Given the description of an element on the screen output the (x, y) to click on. 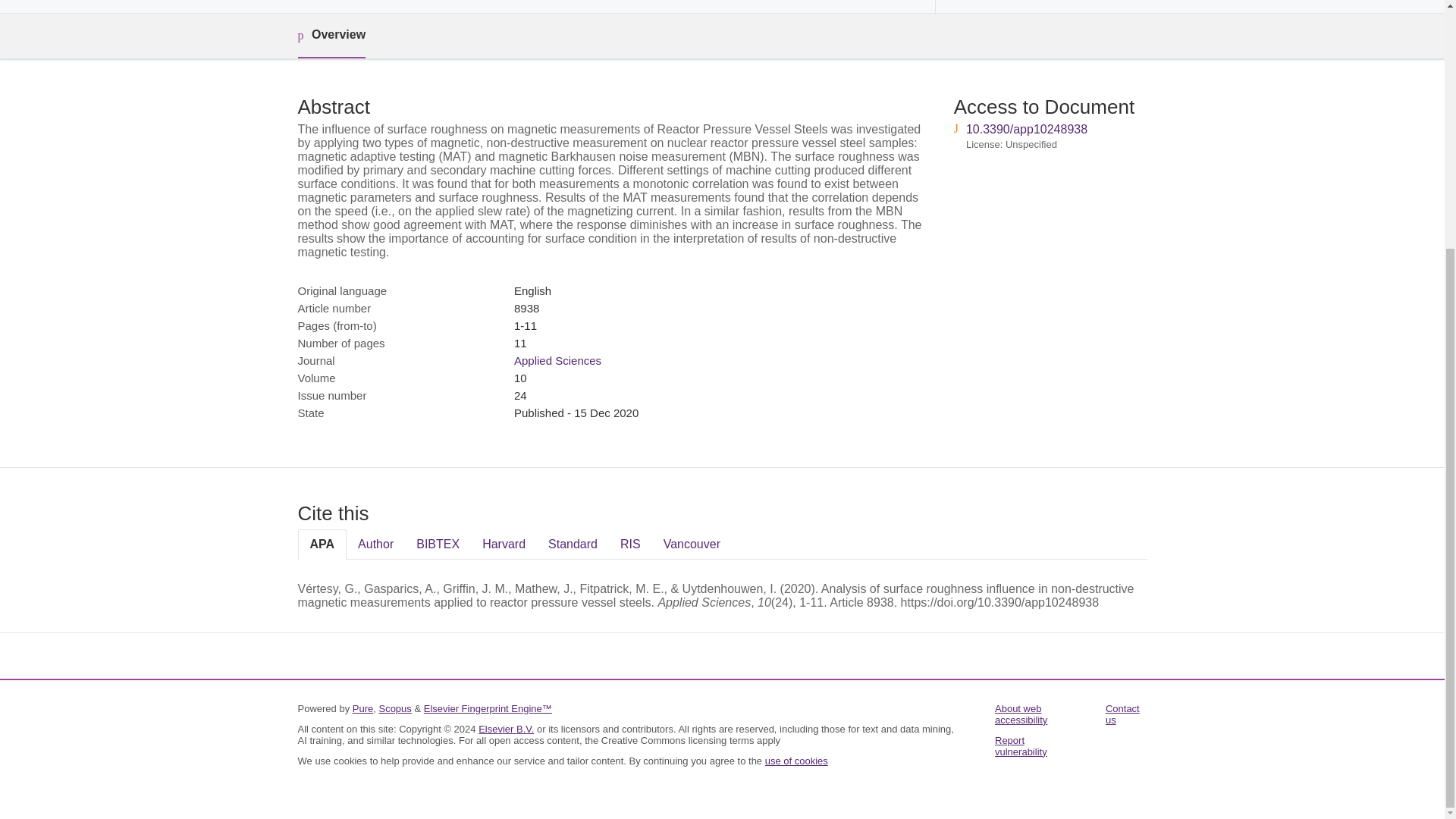
About web accessibility (1020, 713)
Applied Sciences (557, 359)
Overview (331, 35)
Contact us (1122, 713)
Elsevier B.V. (506, 728)
Pure (362, 708)
use of cookies (796, 760)
Report vulnerability (1020, 745)
Scopus (394, 708)
